Given the description of an element on the screen output the (x, y) to click on. 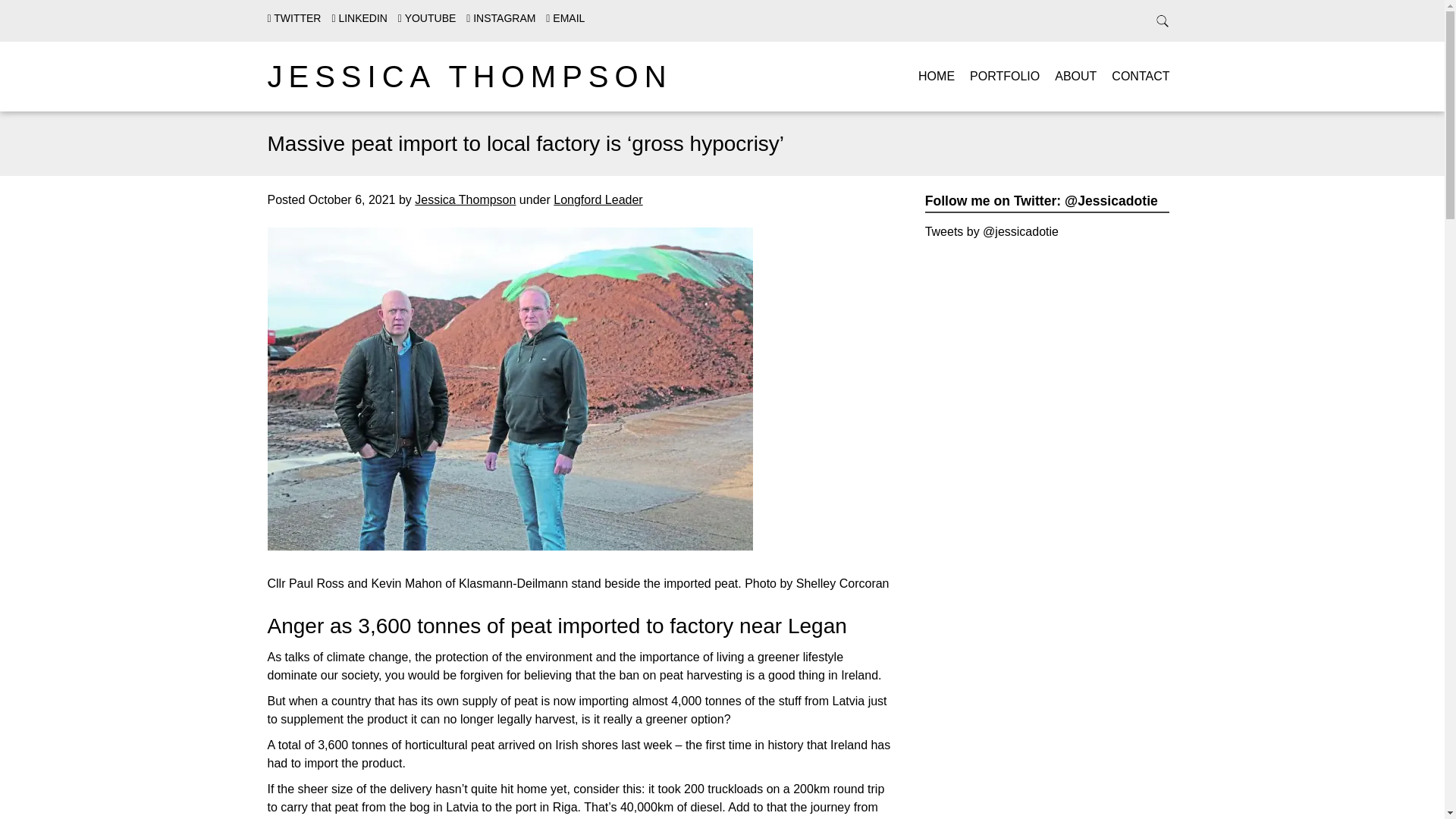
INSTAGRAM (500, 18)
JESSICA THOMPSON (468, 76)
LINKEDIN (359, 18)
EMAIL (565, 18)
YOUTUBE (426, 18)
TWITTER (293, 18)
Search (30, 14)
HOME (936, 76)
Longford Leader (597, 199)
ABOUT (1075, 76)
Jessica Thompson (464, 199)
CONTACT (1140, 76)
PORTFOLIO (1004, 76)
